Given the description of an element on the screen output the (x, y) to click on. 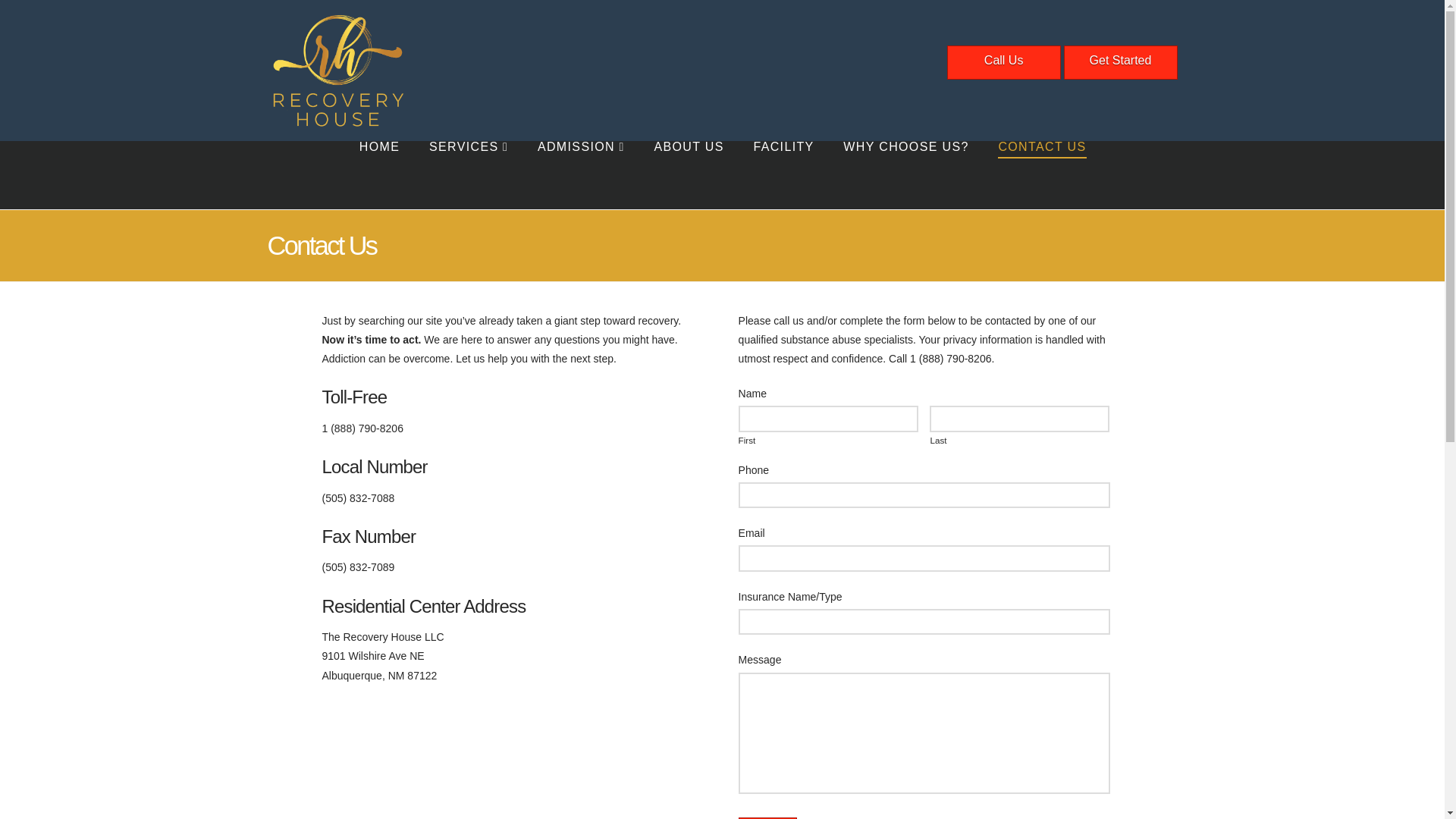
FACILITY (783, 174)
SERVICES (467, 174)
WHY CHOOSE US? (905, 174)
HOME (378, 174)
ADMISSION (580, 174)
CONTACT US (1041, 174)
Submit (767, 818)
Call Us (1004, 62)
ABOUT US (688, 174)
Get Started (1119, 62)
